Given the description of an element on the screen output the (x, y) to click on. 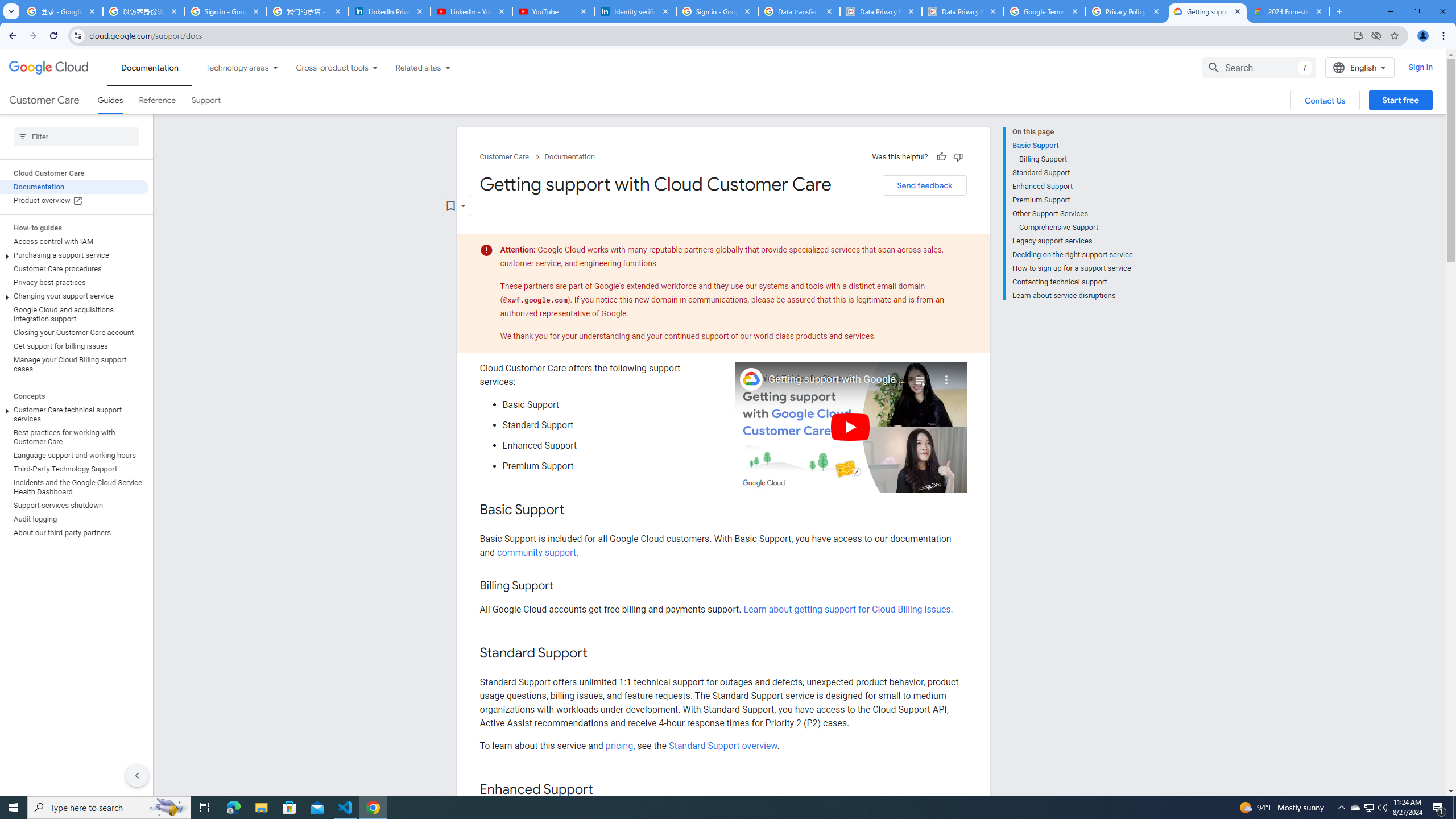
Other Support Services (1071, 213)
Copy link to this section: Enhanced Support (603, 789)
Send feedback (924, 185)
Language support and working hours (74, 455)
Standard Support overview (722, 745)
Copy link to this section: Basic Support (576, 510)
Customer Care procedures (74, 269)
Helpful (940, 156)
Play (850, 426)
Type to filter (76, 136)
Customer Care (44, 100)
